Given the description of an element on the screen output the (x, y) to click on. 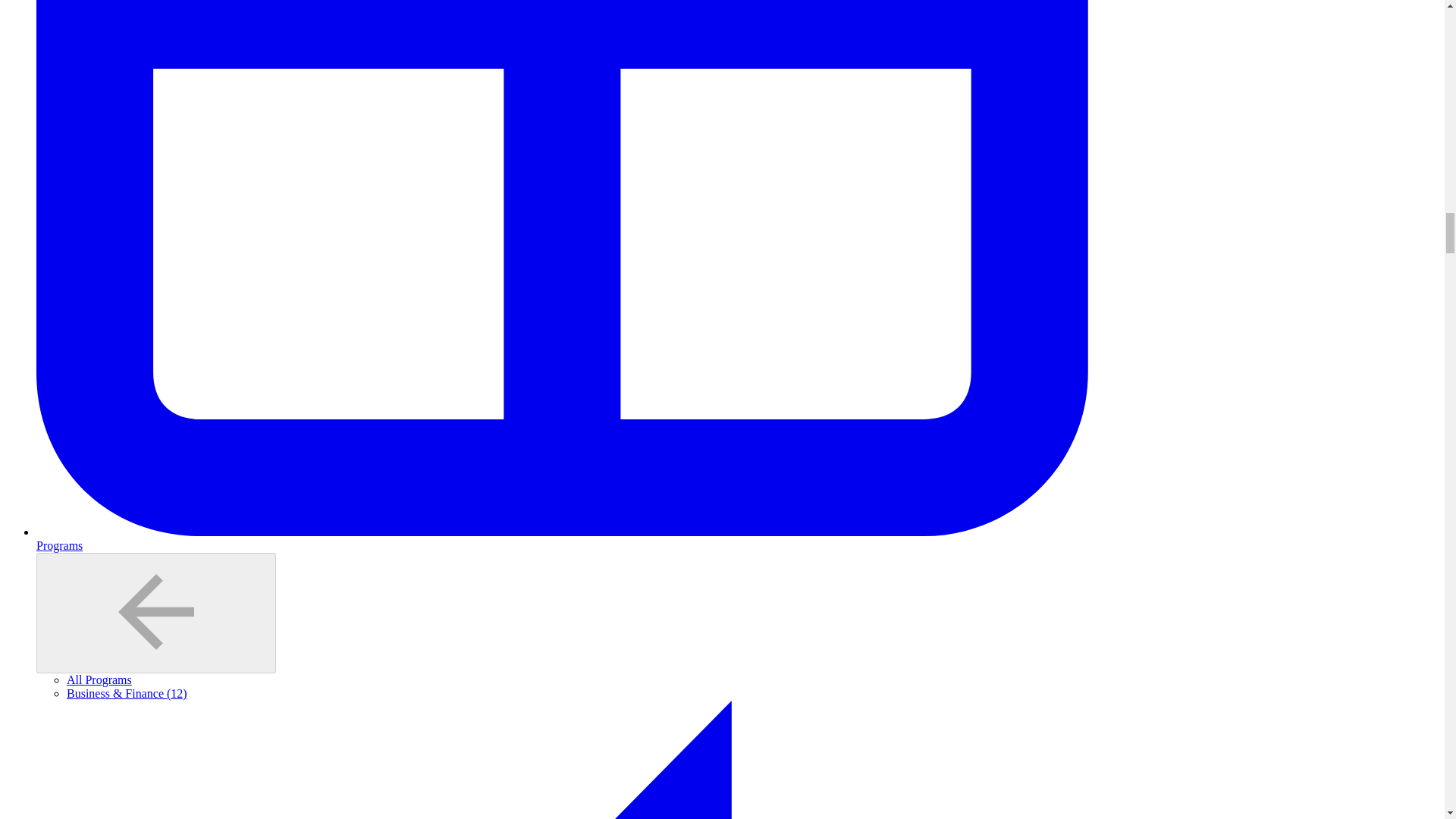
All Programs (99, 679)
